Given the description of an element on the screen output the (x, y) to click on. 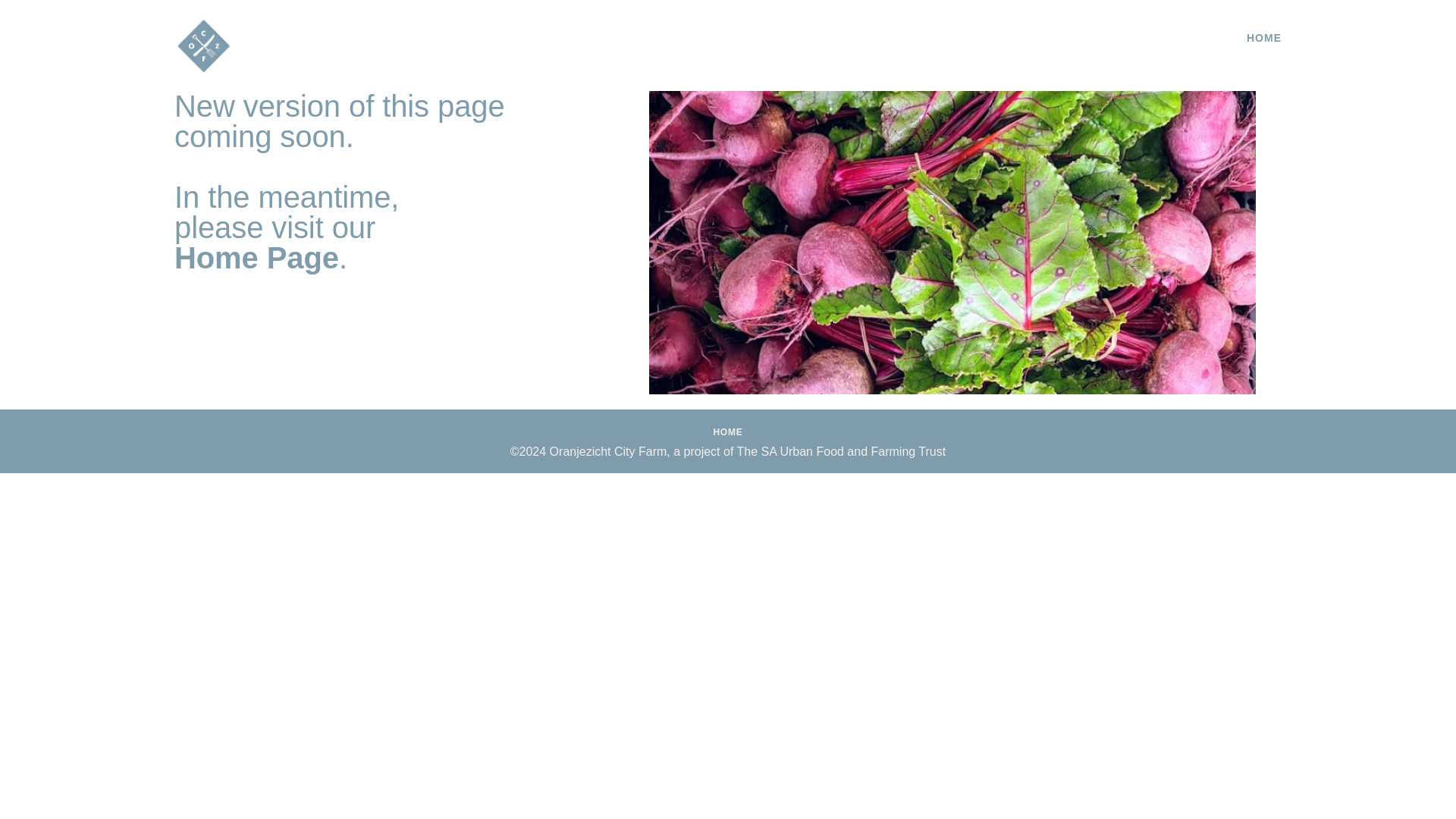
HOME (727, 432)
